Given the description of an element on the screen output the (x, y) to click on. 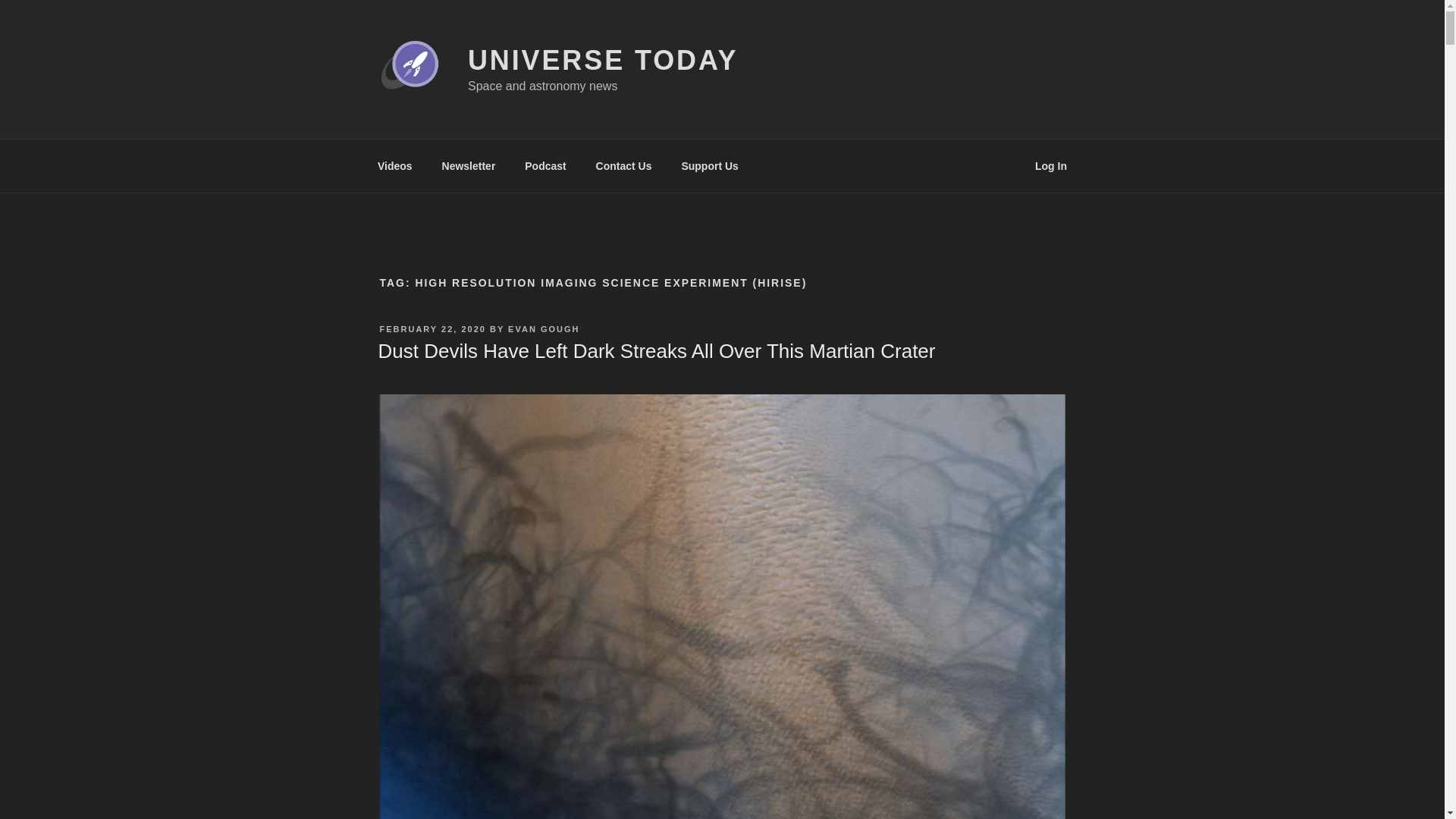
EVAN GOUGH (543, 328)
Newsletter (468, 165)
Videos (394, 165)
Support Us (709, 165)
Podcast (545, 165)
Contact Us (623, 165)
FEBRUARY 22, 2020 (431, 328)
Log In (1051, 165)
UNIVERSE TODAY (602, 60)
